Given the description of an element on the screen output the (x, y) to click on. 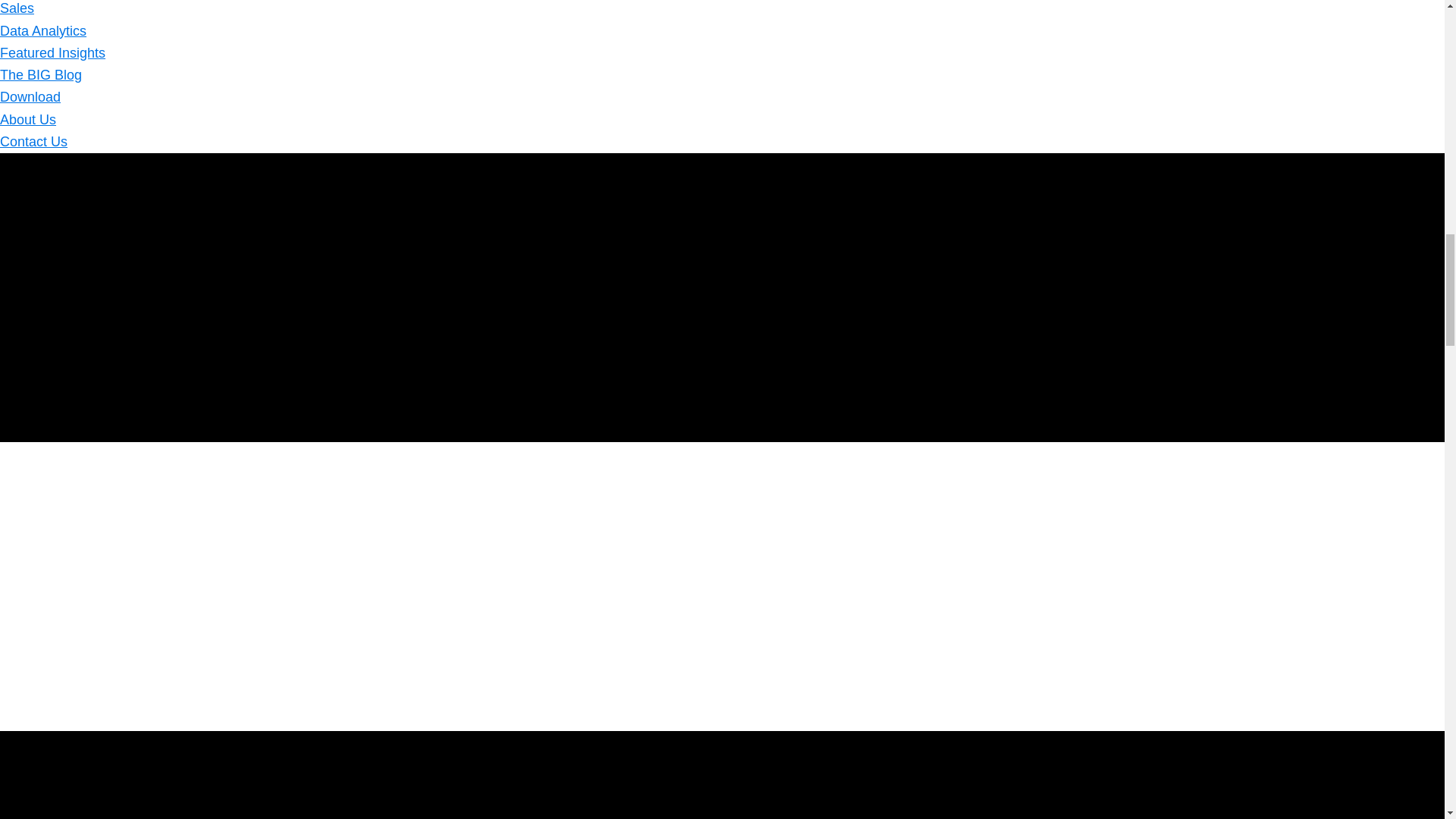
The BIG Blog (40, 74)
Download (30, 96)
Featured Insights (52, 52)
Contact Us (33, 141)
Sales (16, 7)
About Us (28, 119)
Data Analytics (42, 29)
